Given the description of an element on the screen output the (x, y) to click on. 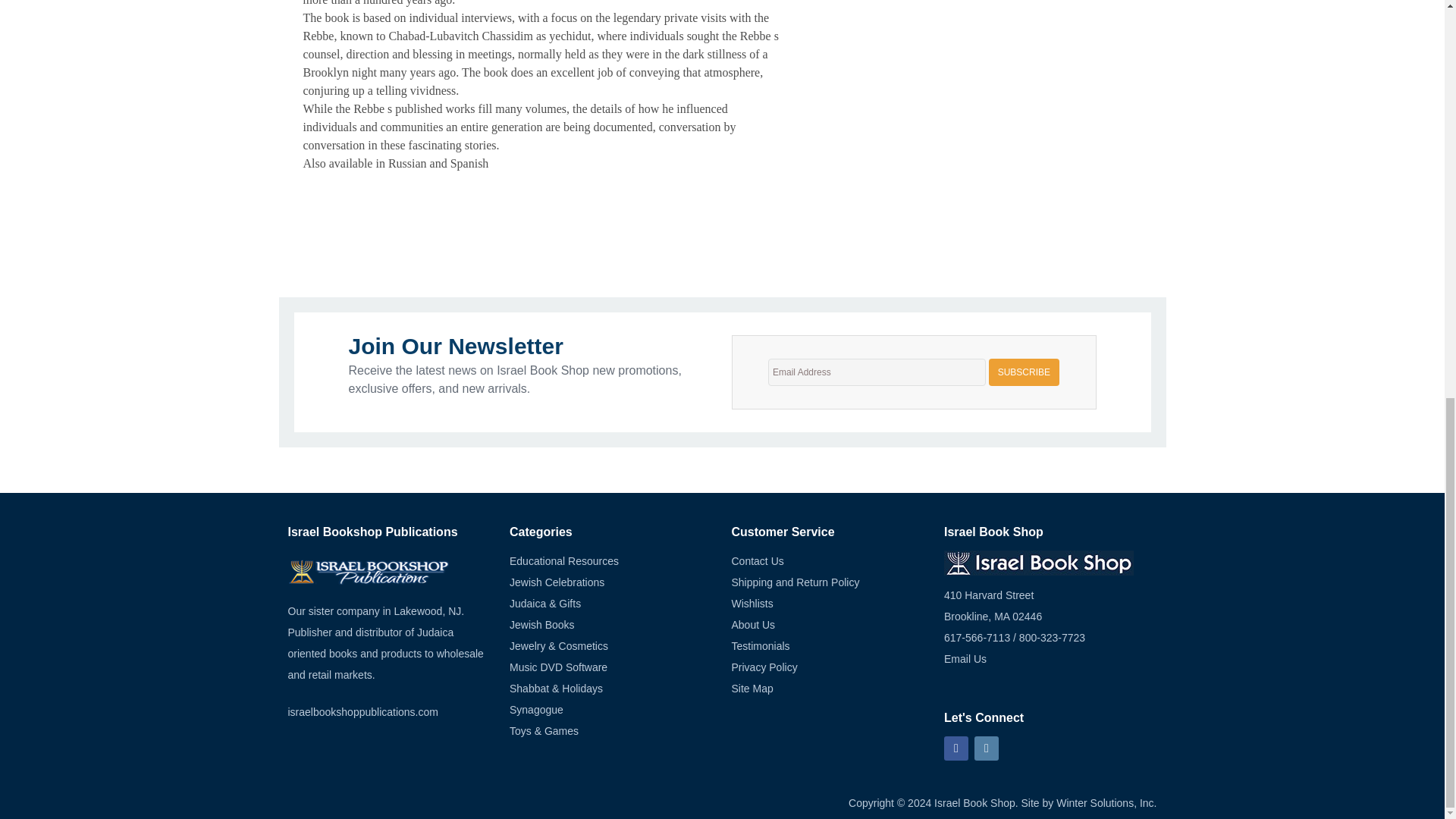
SUBSCRIBE (1023, 371)
